Given the description of an element on the screen output the (x, y) to click on. 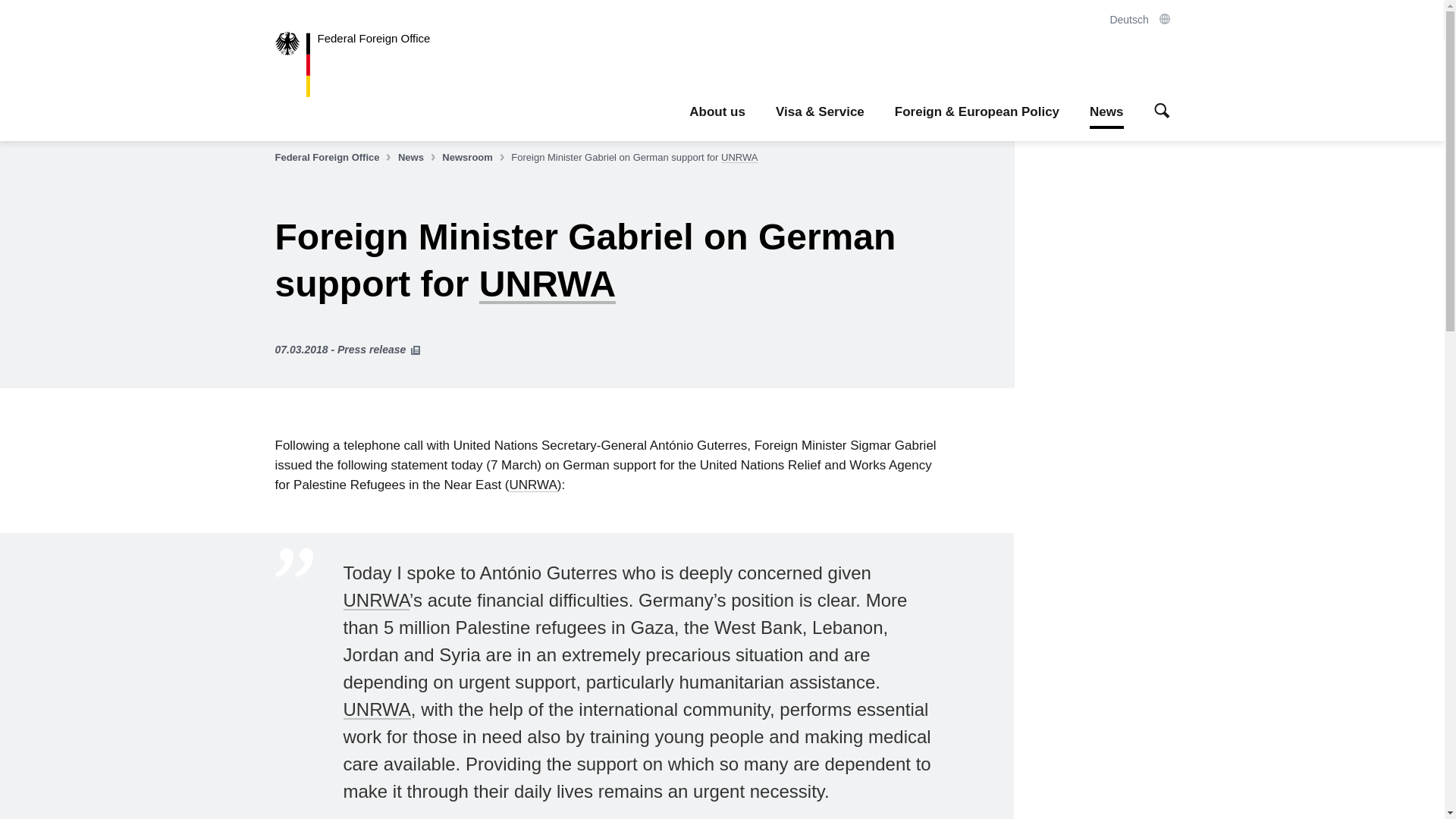
Deutsch (1139, 19)
Federal Foreign Office (363, 64)
Federal Foreign Office (363, 64)
About us (716, 111)
Federal Foreign Office (334, 157)
Newsroom (474, 157)
Deutsch (1139, 19)
